Given the description of an element on the screen output the (x, y) to click on. 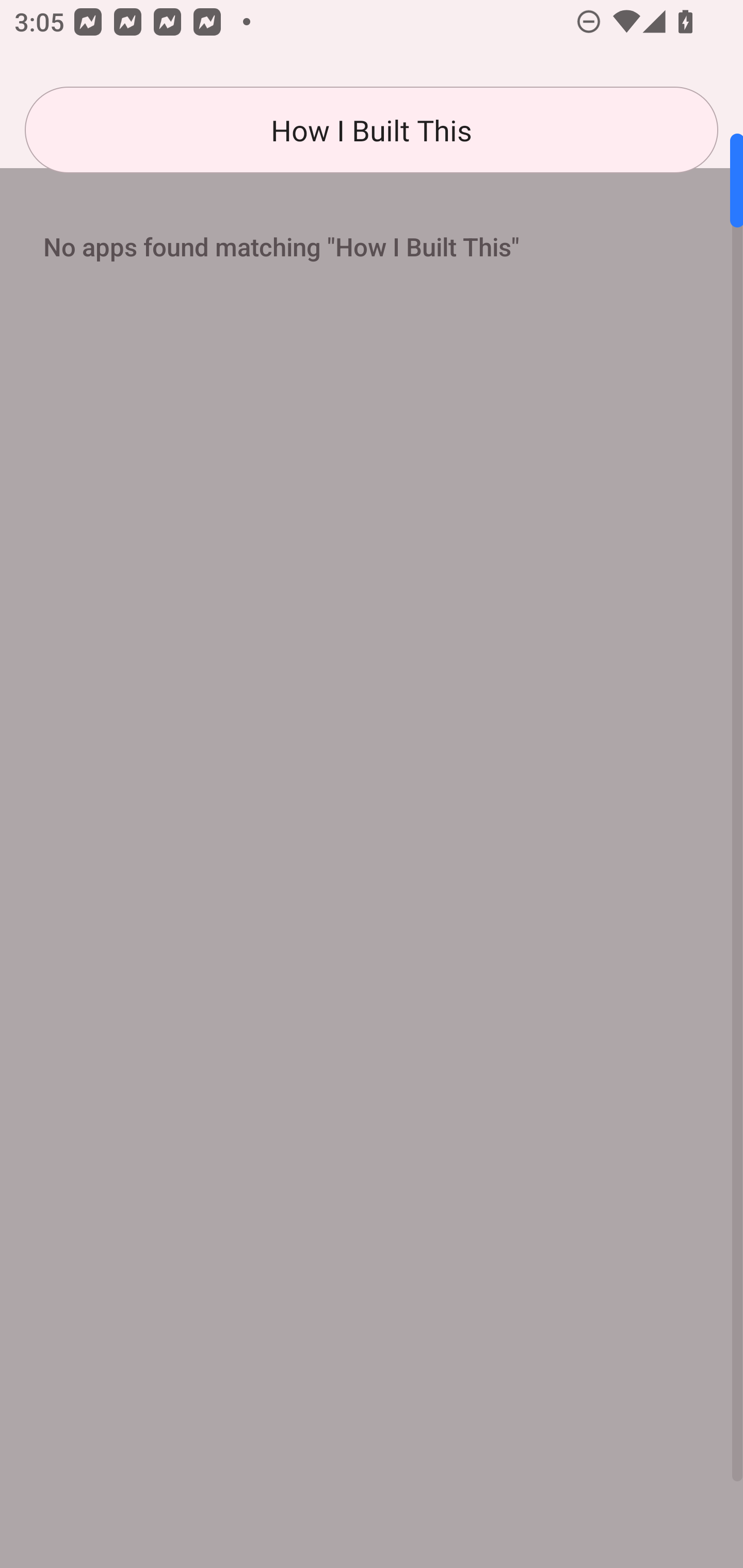
How I Built This (371, 130)
